Given the description of an element on the screen output the (x, y) to click on. 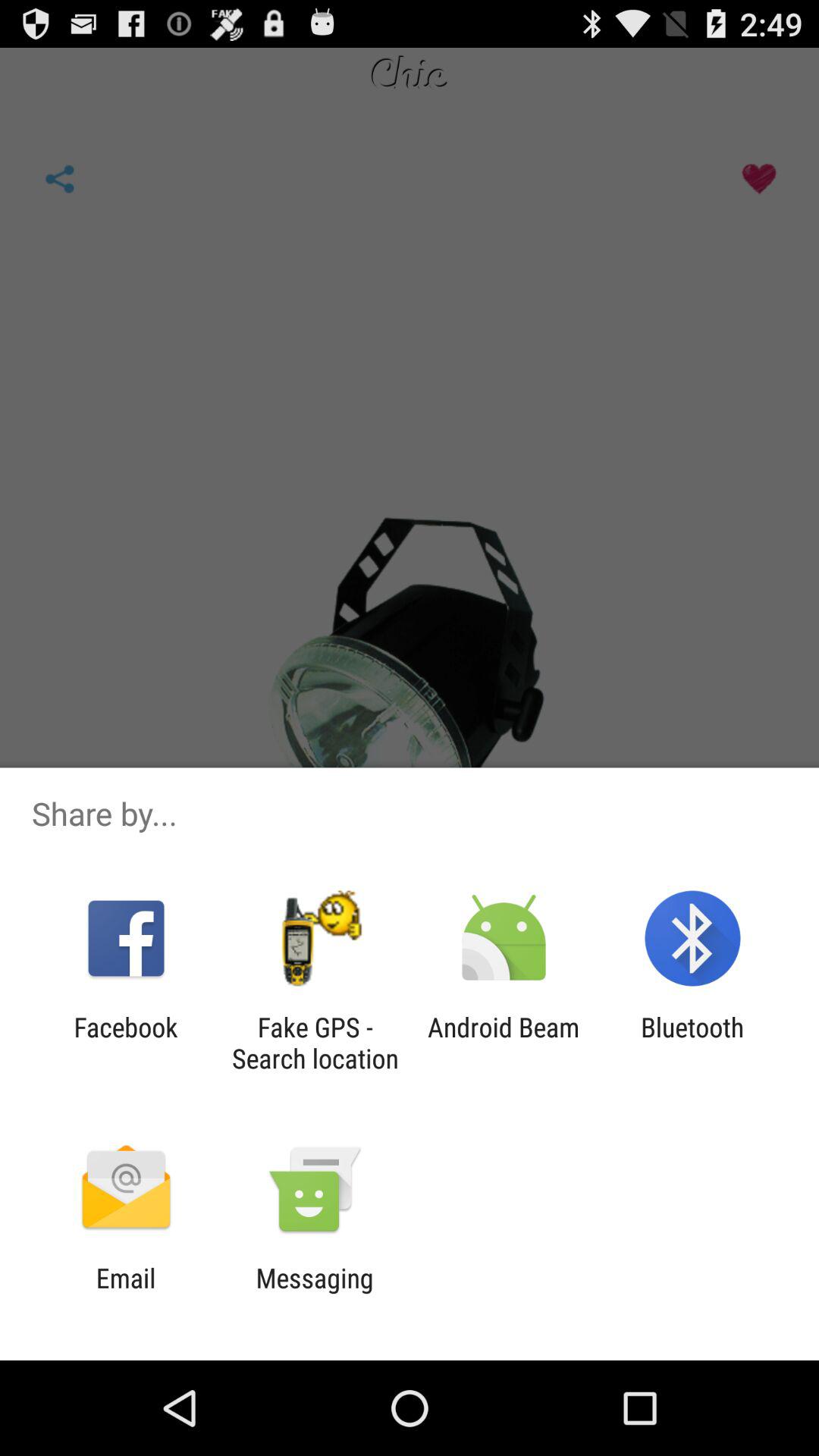
open the bluetooth item (691, 1042)
